Given the description of an element on the screen output the (x, y) to click on. 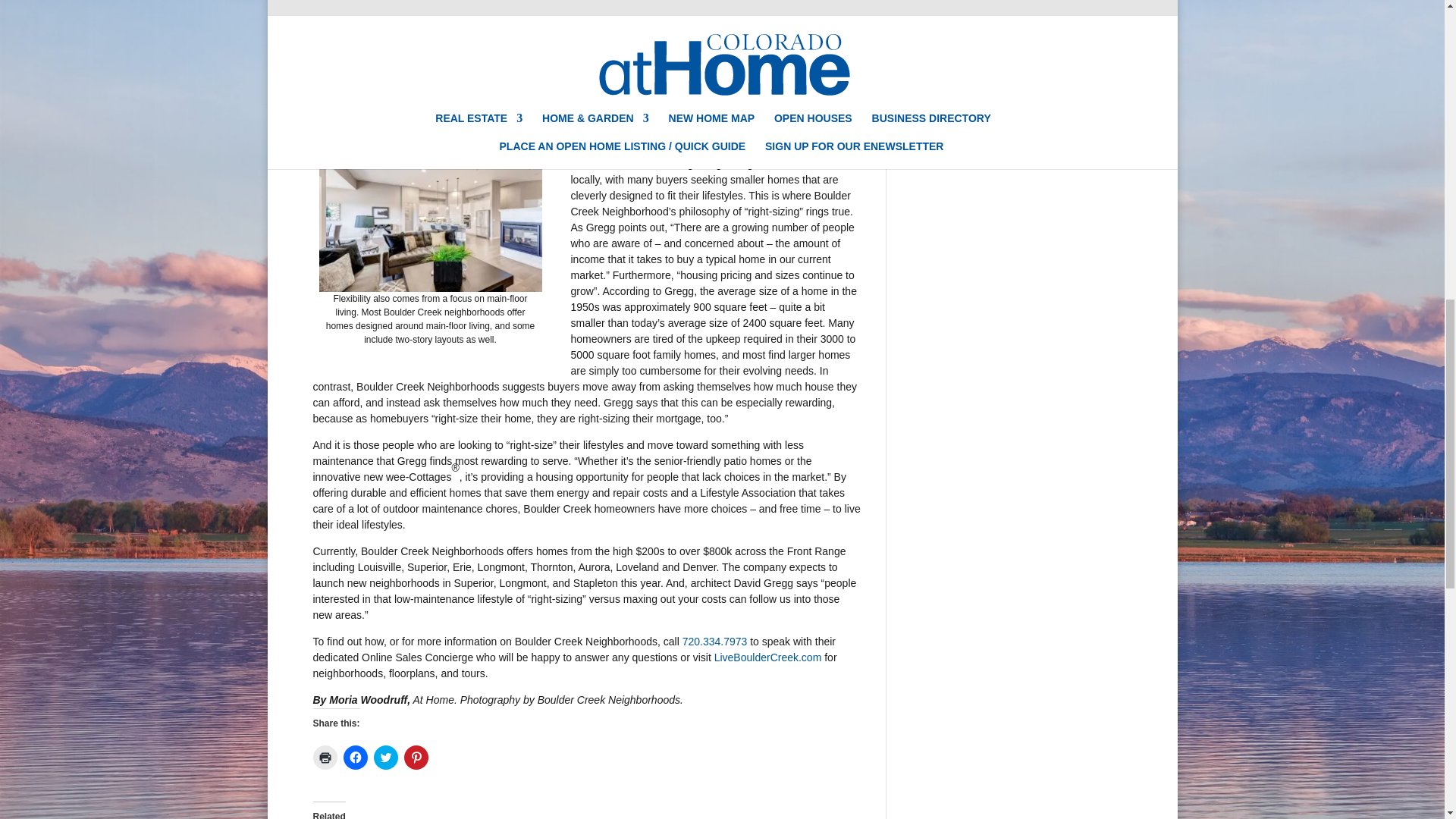
Click to print (324, 757)
Click to share on Twitter (384, 757)
Click to share on Pinterest (415, 757)
720.334.7973 (715, 641)
Click to share on Facebook (354, 757)
